Given the description of an element on the screen output the (x, y) to click on. 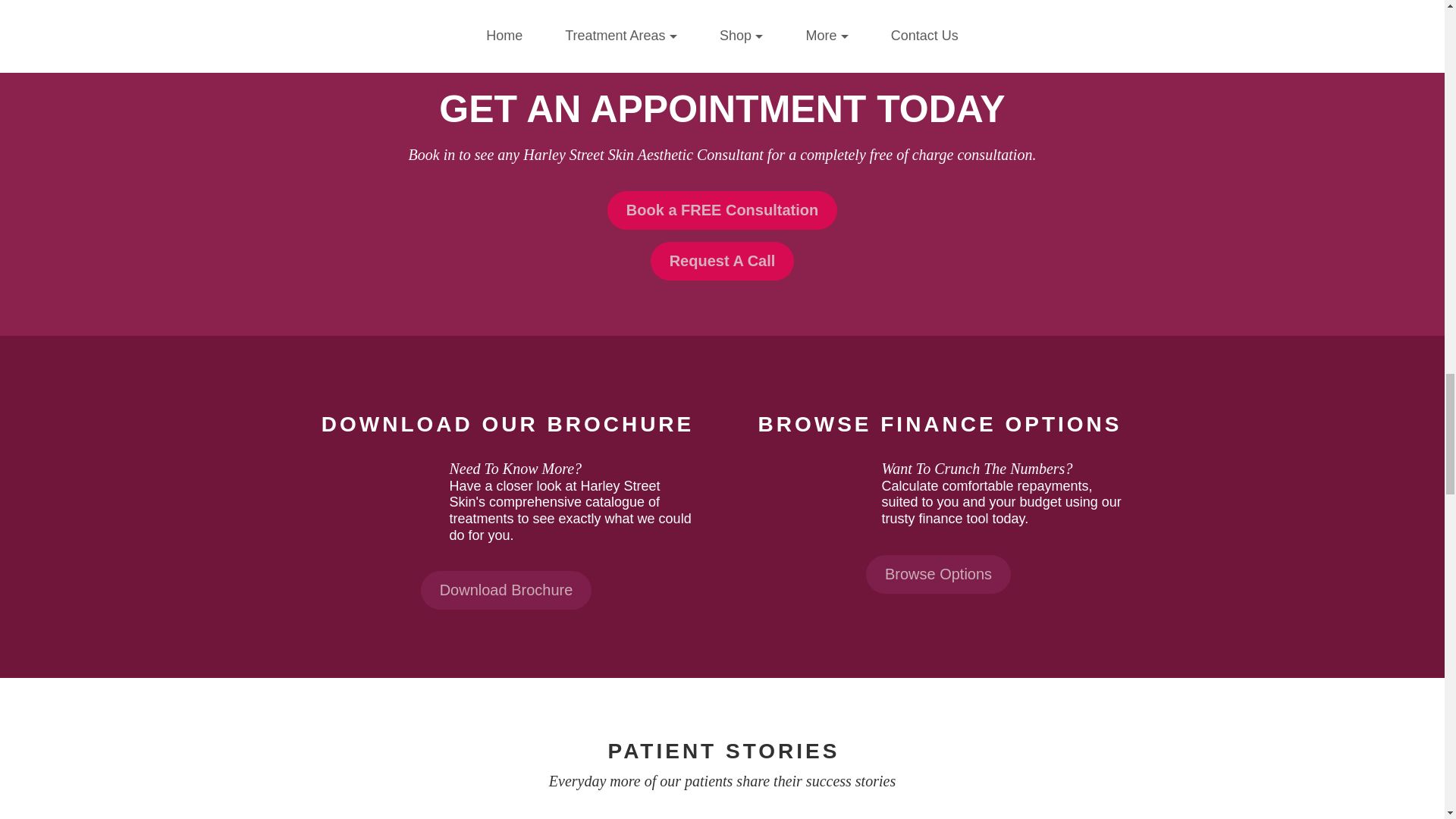
Forces TV (937, 5)
The BBC (794, 5)
CNN (1082, 5)
Channel 4 (506, 5)
Sky Tv (362, 5)
Huffington Post (650, 5)
